Given the description of an element on the screen output the (x, y) to click on. 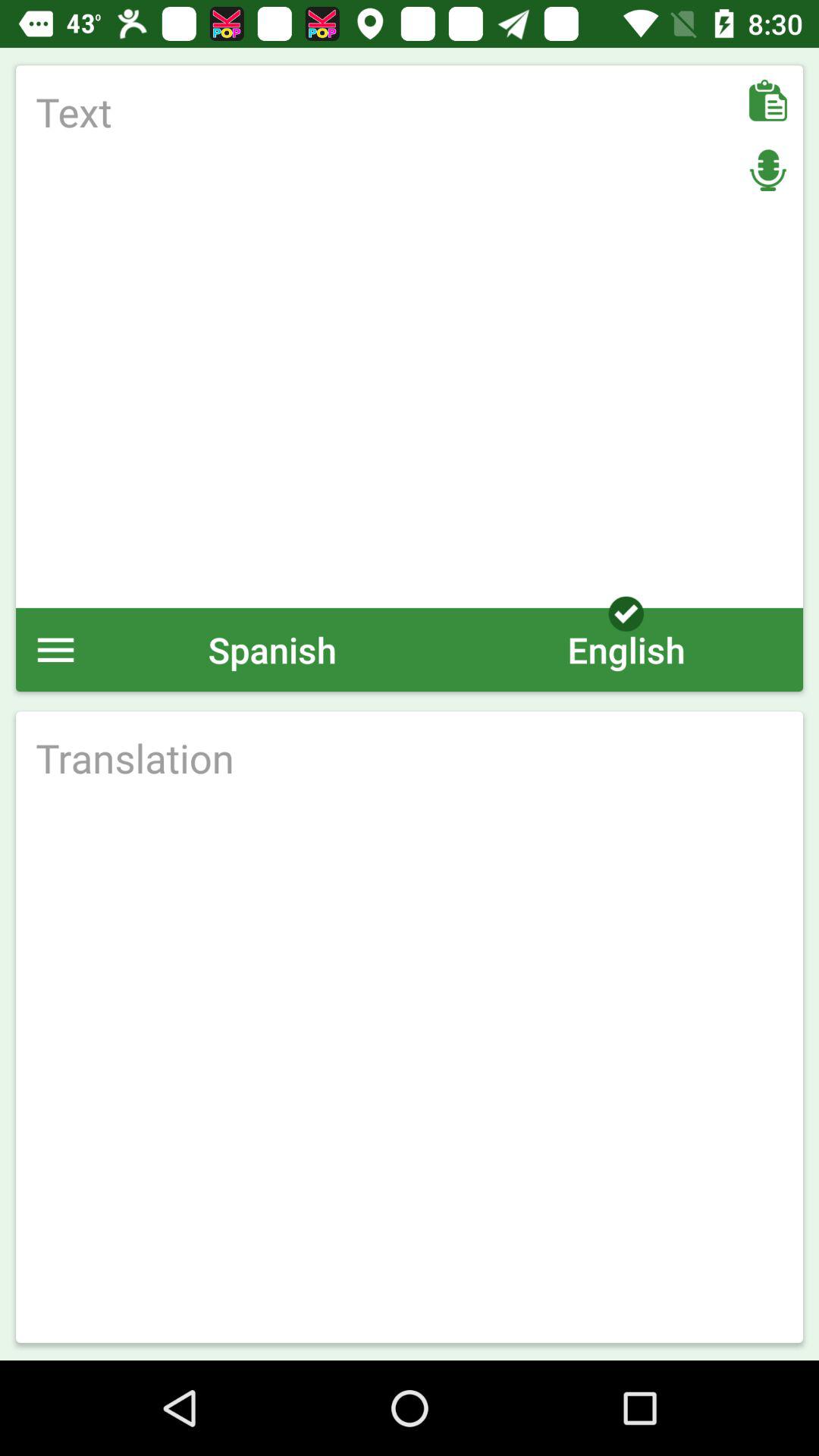
launch item at the center (409, 757)
